Given the description of an element on the screen output the (x, y) to click on. 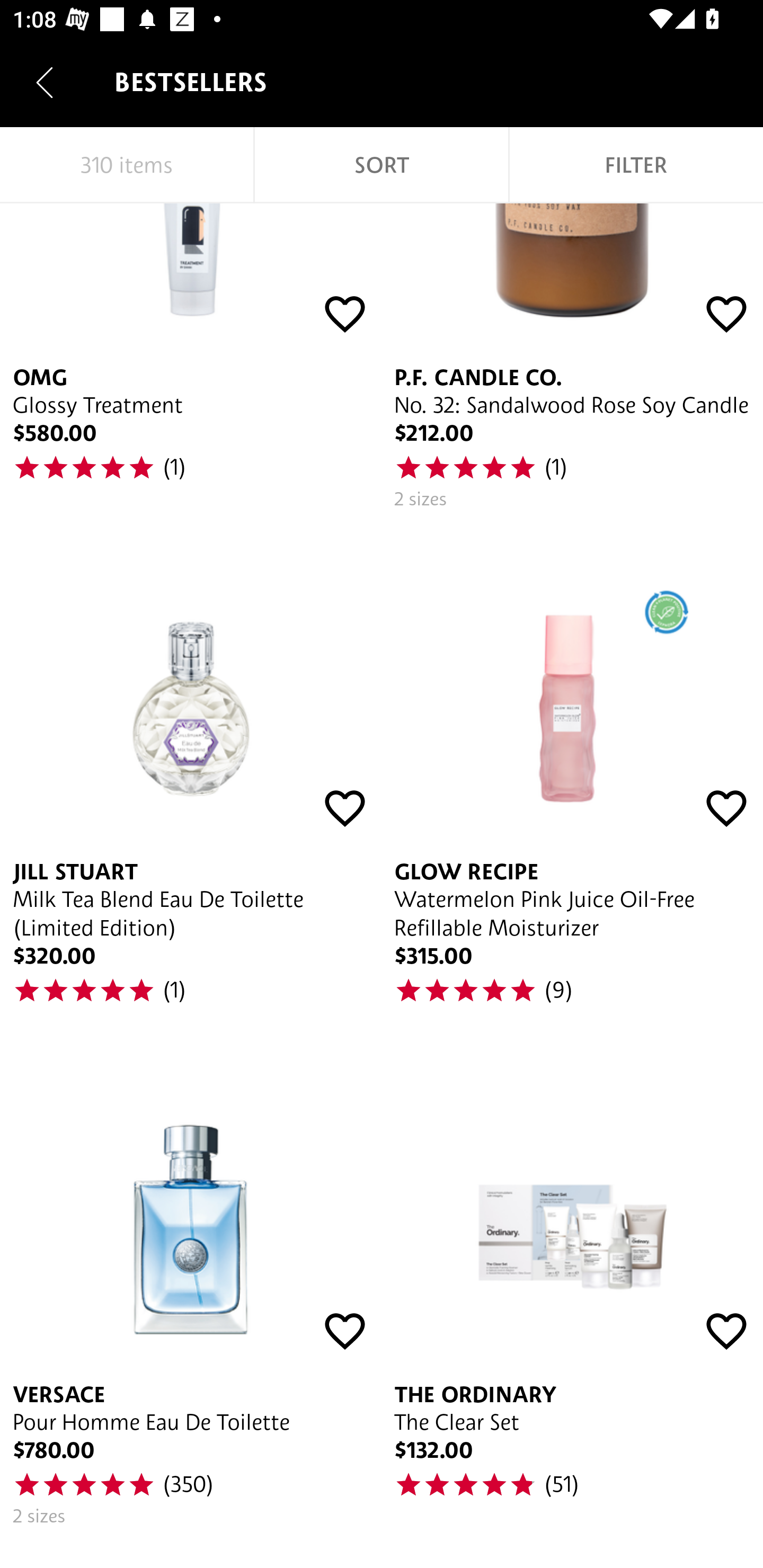
Navigate up (44, 82)
SORT (381, 165)
FILTER (636, 165)
OMG Glossy Treatment $580.00 50.0 (1) (190, 363)
THE ORDINARY The Clear Set $132.00 48.0 (51) (572, 1292)
